Given the description of an element on the screen output the (x, y) to click on. 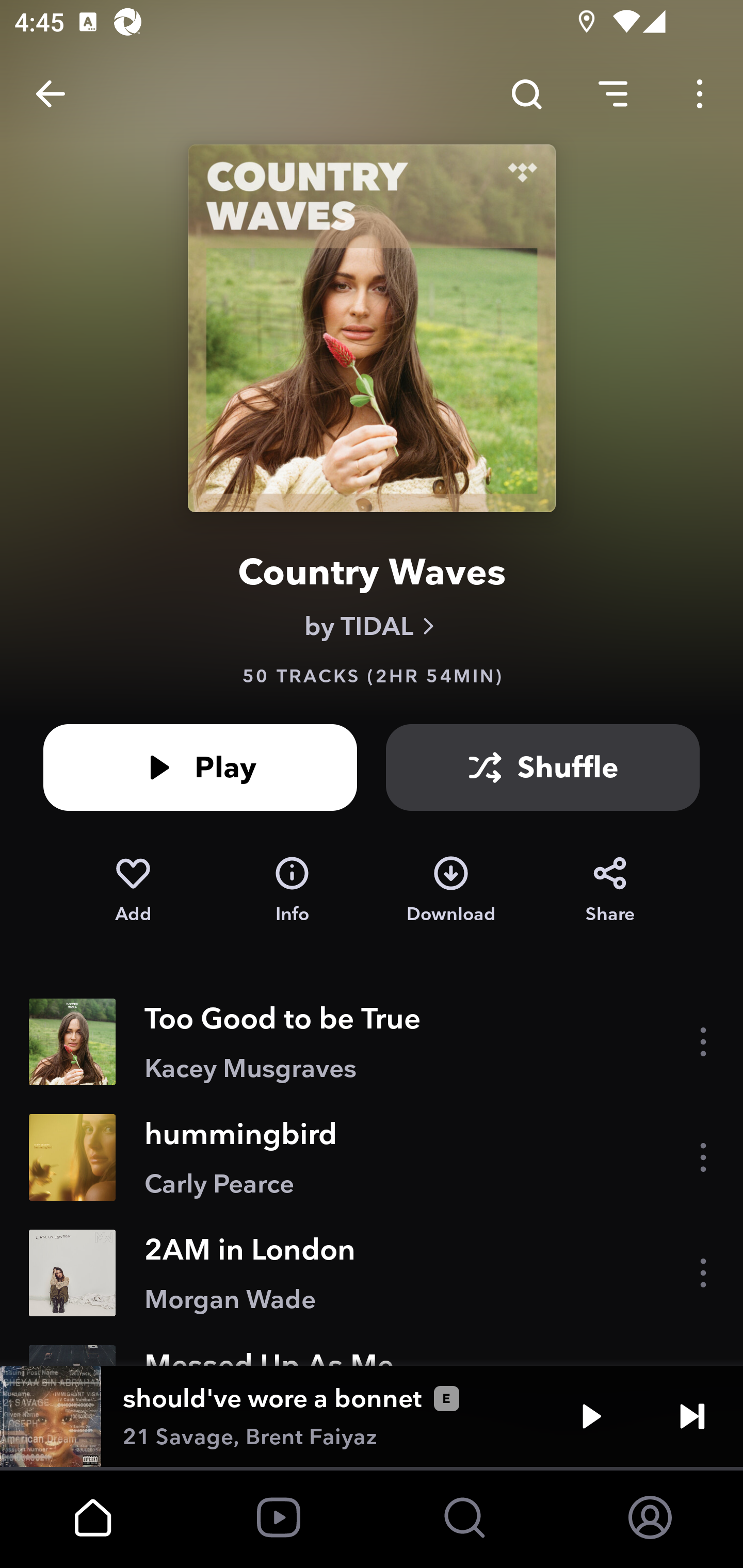
Back (50, 93)
Search (525, 93)
Sorting (612, 93)
Options (699, 93)
by TIDAL (371, 625)
Play (200, 767)
Shuffle (542, 767)
Add (132, 890)
Info (291, 890)
Download (450, 890)
Share (609, 890)
Too Good to be True Kacey Musgraves (371, 1041)
hummingbird Carly Pearce (371, 1157)
2AM in London Morgan Wade (371, 1273)
Play (590, 1416)
